Given the description of an element on the screen output the (x, y) to click on. 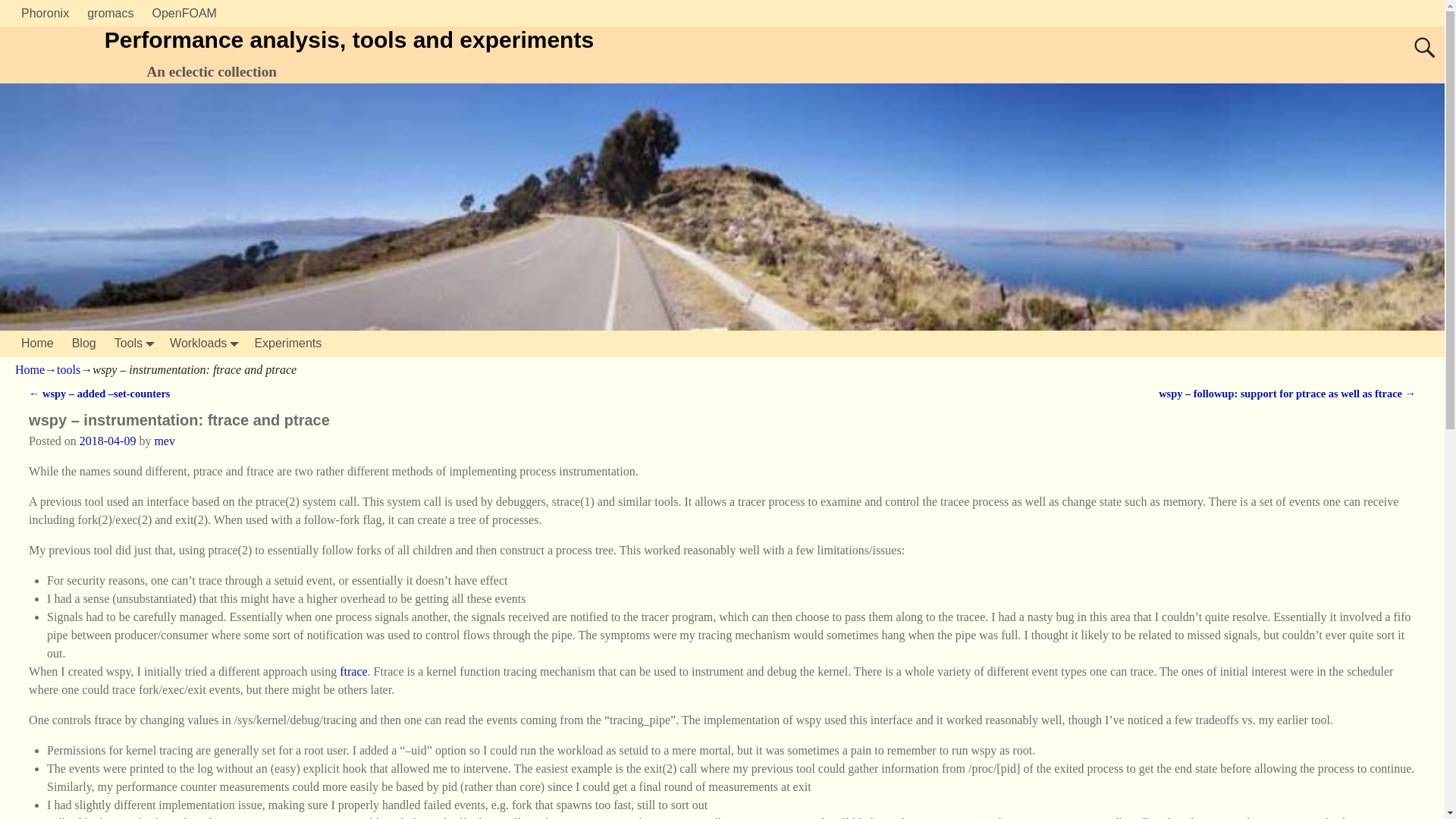
View all posts by mev (164, 440)
Workloads (202, 343)
Performance analysis, tools and experiments (348, 39)
Performance analysis, tools and experiments (348, 39)
OpenFOAM (183, 13)
9:57 am (108, 440)
Home (36, 343)
Home (36, 343)
Blog (83, 343)
Phoronix (44, 13)
Tools (132, 343)
gromacs (110, 13)
